Given the description of an element on the screen output the (x, y) to click on. 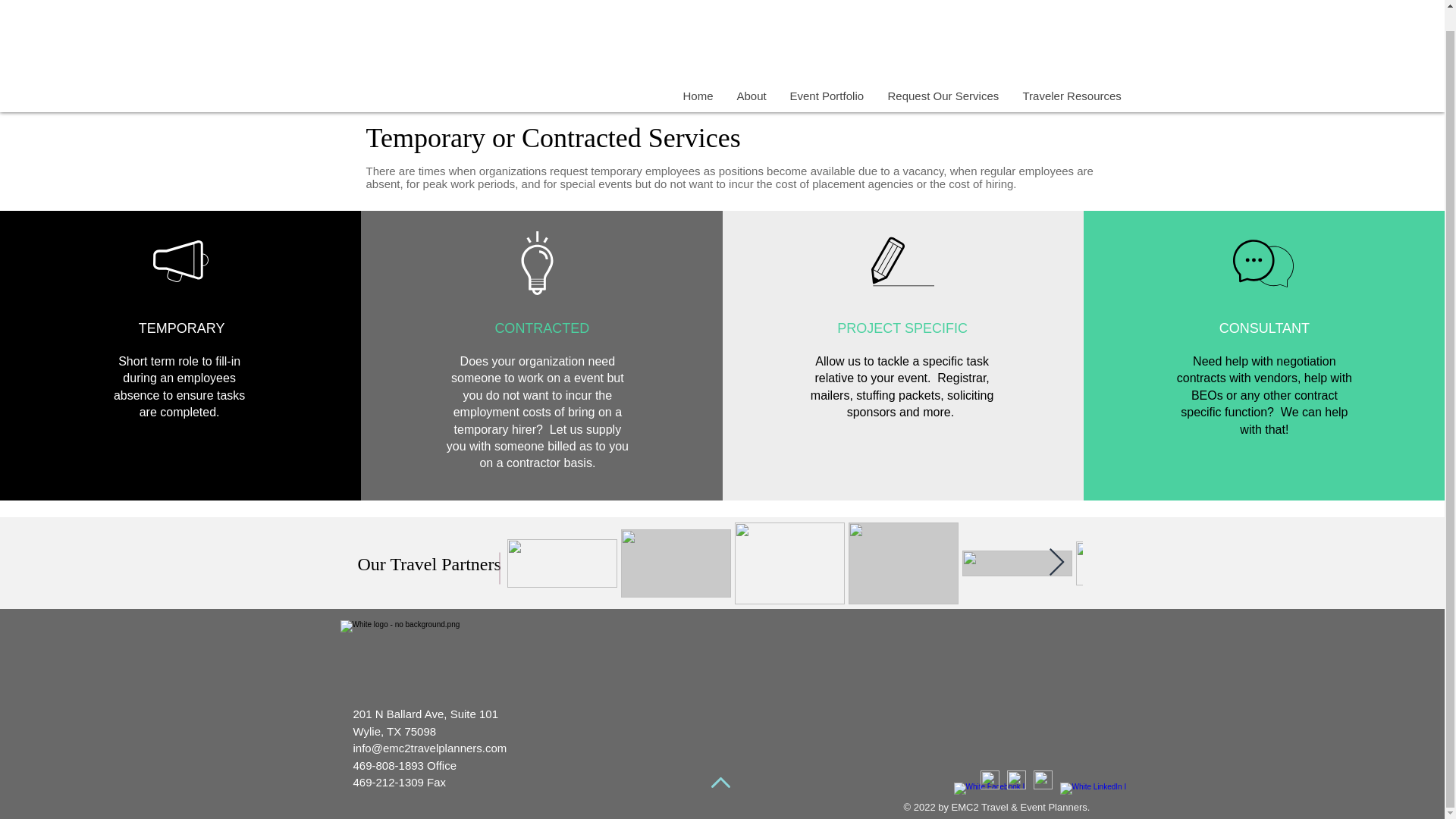
About (751, 95)
Event Portfolio (826, 95)
Home (698, 95)
Request Our Services (942, 95)
